Given the description of an element on the screen output the (x, y) to click on. 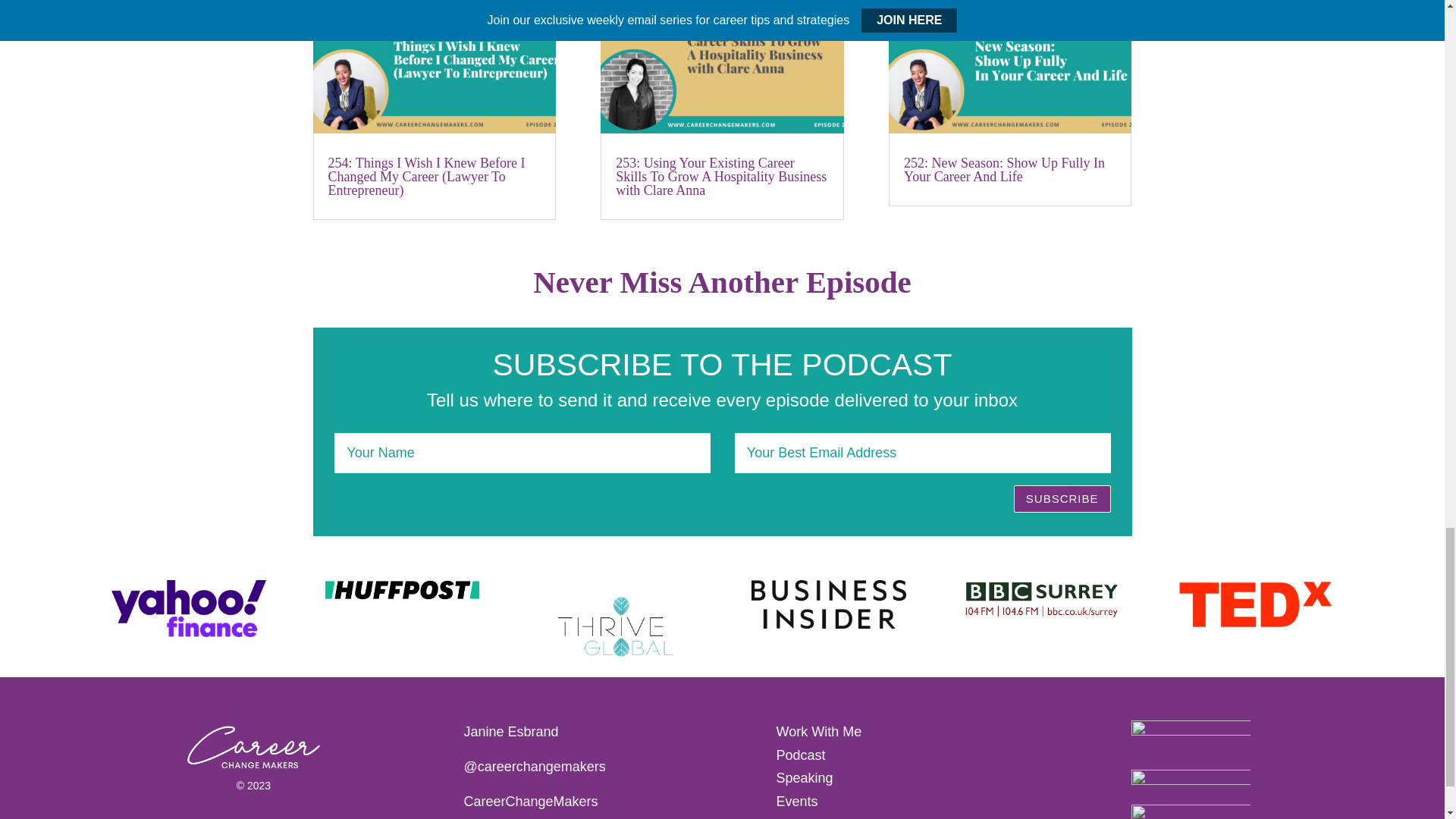
spotify-logo-png-file-spotify-badge-large-png-1280 (1190, 741)
listen-on-Stitcher-badge (1190, 811)
252: New Season: Show Up Fully In Your Career And Life (1004, 169)
SUBSCRIBE (1061, 499)
Careers-03 (253, 748)
